Given the description of an element on the screen output the (x, y) to click on. 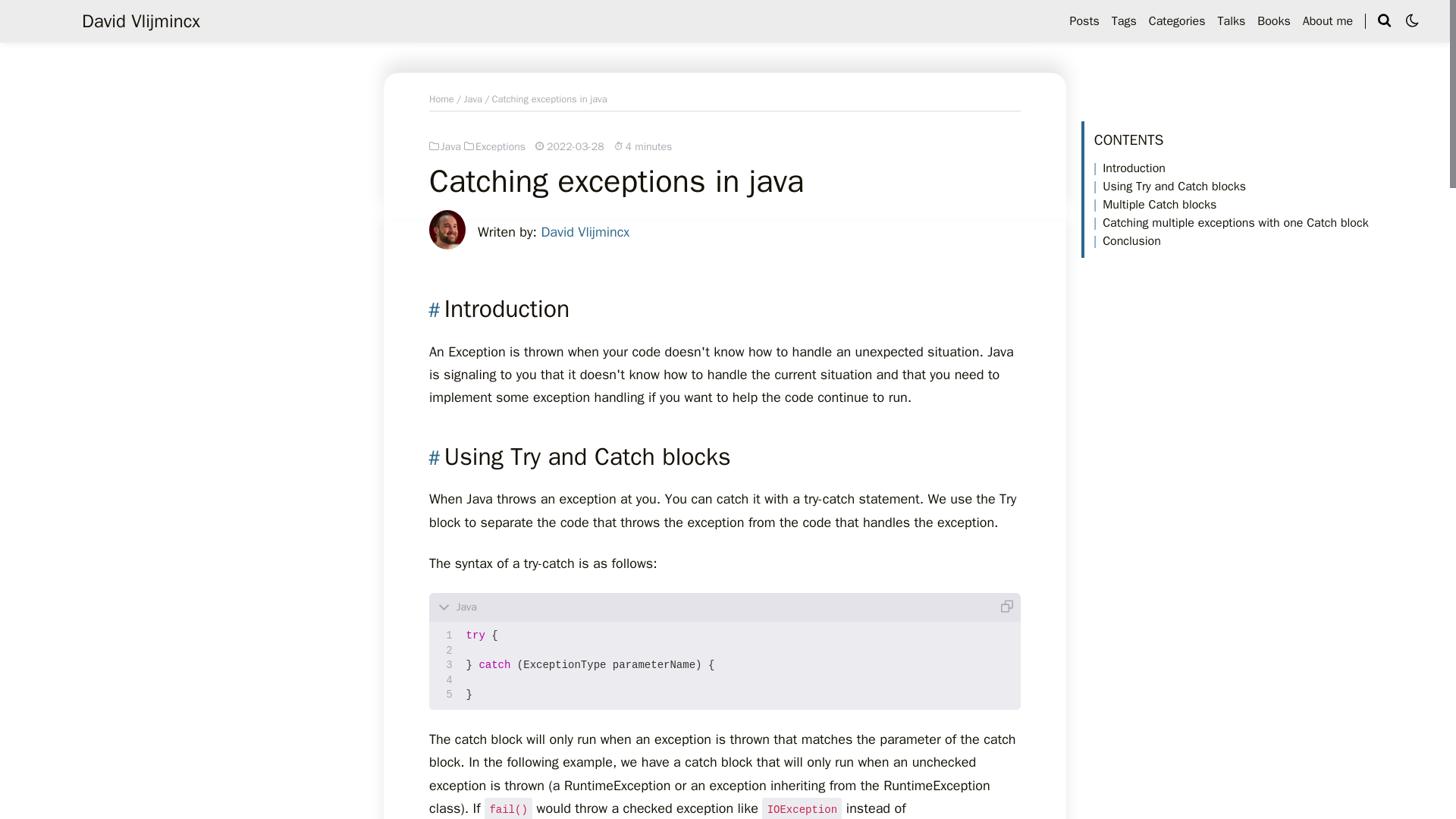
Catching multiple exceptions with one Catch block (1230, 222)
Home (441, 99)
Multiple Catch blocks (1154, 204)
Introduction (1129, 168)
Java (472, 99)
Books (1273, 20)
About me (1327, 20)
David Vlijmincx (584, 231)
Posts (1083, 20)
Conclusion (1126, 240)
Using Try and Catch blocks (1169, 186)
Talks (1231, 20)
Java (445, 146)
Tags (1124, 20)
David Vlijmincx (140, 20)
